Given the description of an element on the screen output the (x, y) to click on. 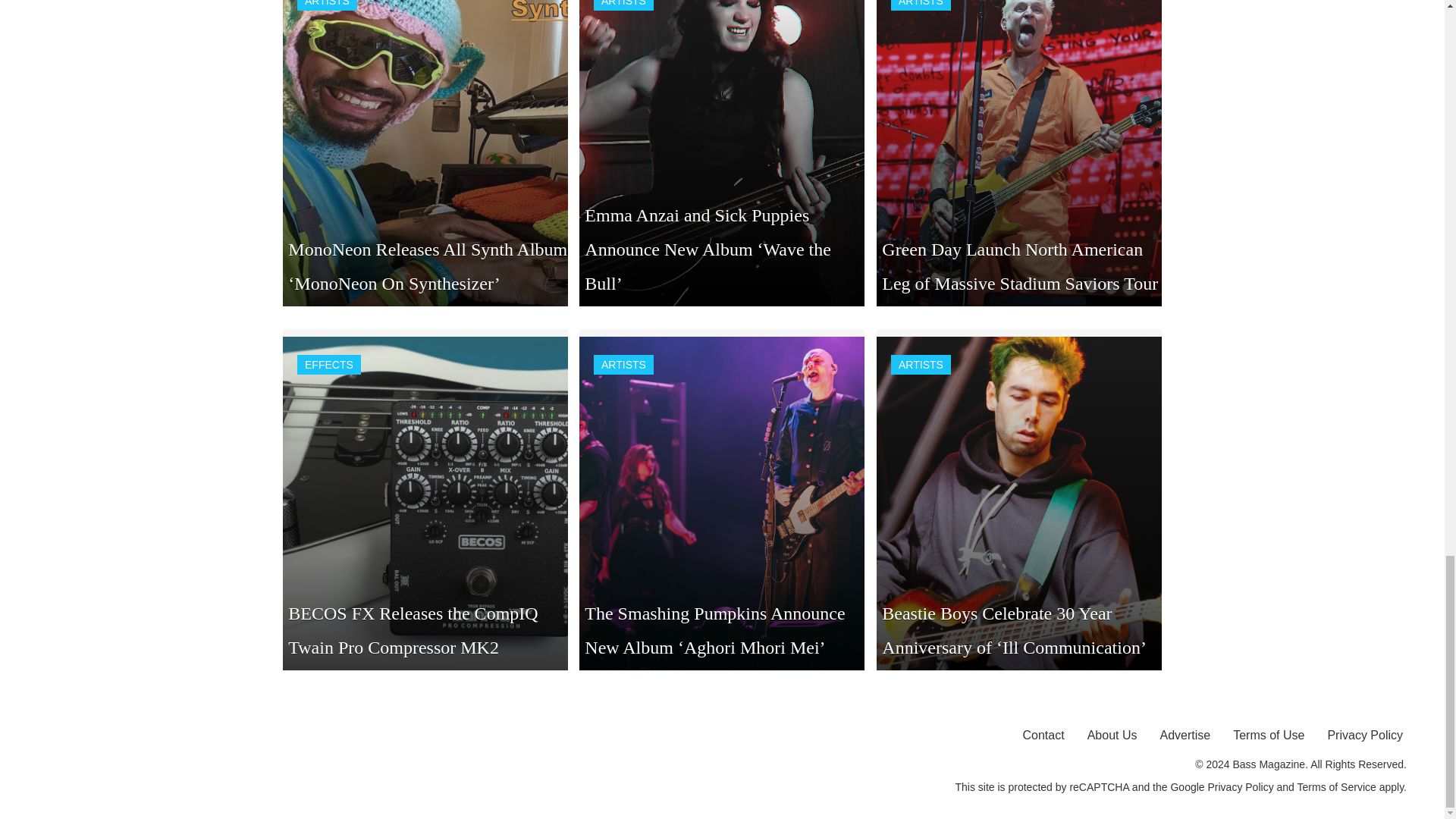
View Box Content (721, 153)
View Box Content (424, 153)
View Box Content (1018, 153)
